Given the description of an element on the screen output the (x, y) to click on. 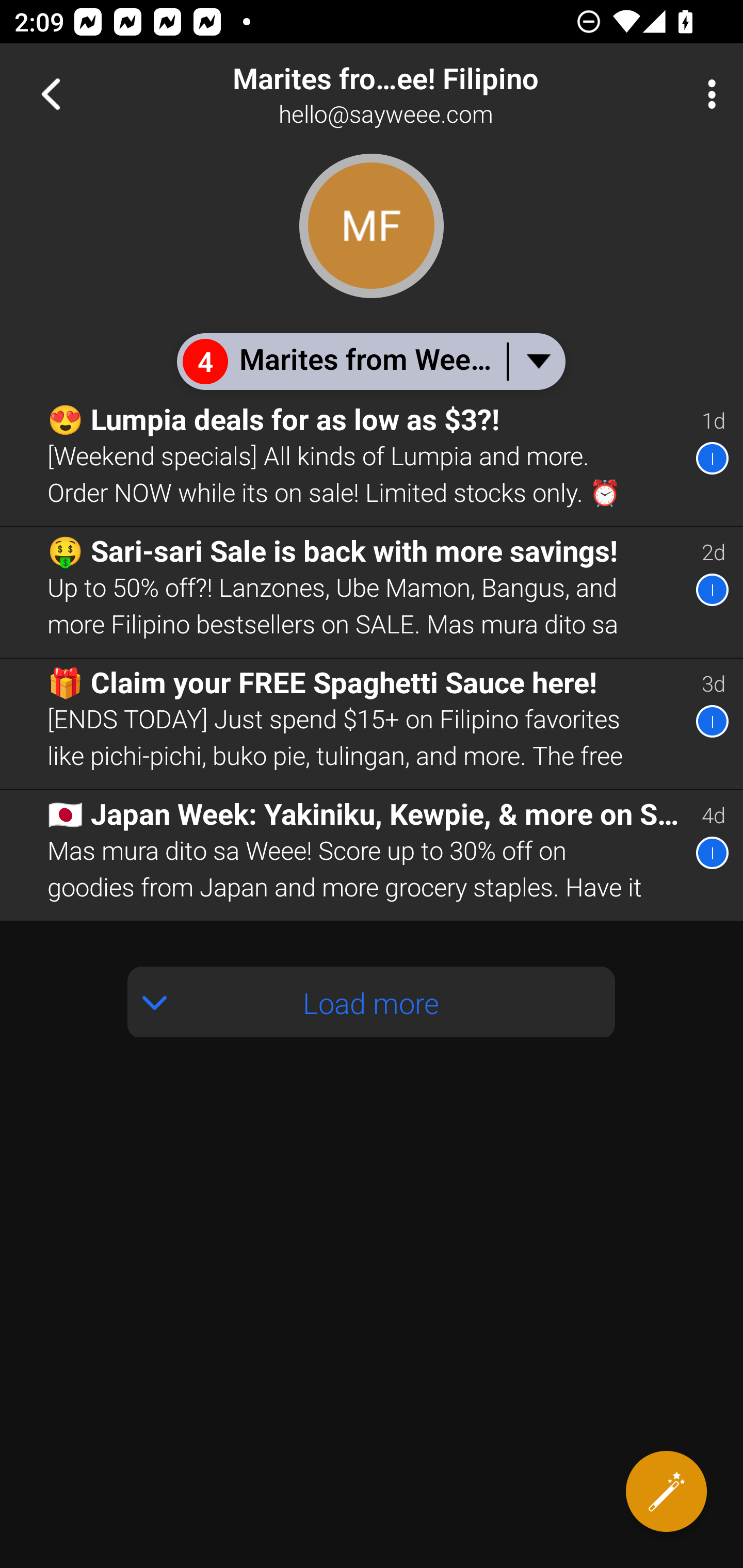
Navigate up (50, 93)
Marites from Weee! Filipino hello@sayweee.com (436, 93)
More Options (706, 93)
4 Marites from Weee! Filipino & You (370, 361)
Load more (371, 1001)
